Given the description of an element on the screen output the (x, y) to click on. 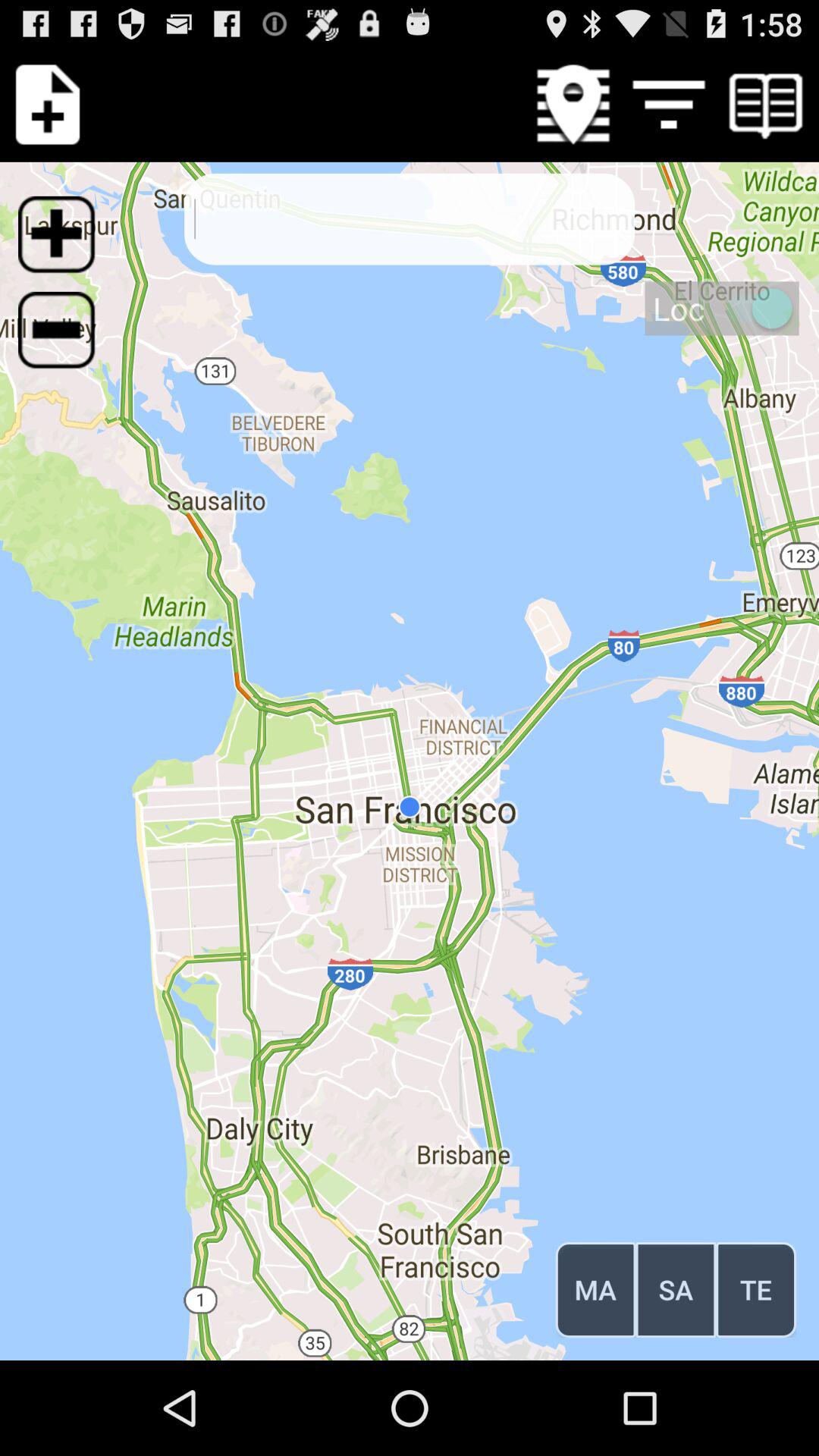
launch button next to ma icon (675, 1289)
